Given the description of an element on the screen output the (x, y) to click on. 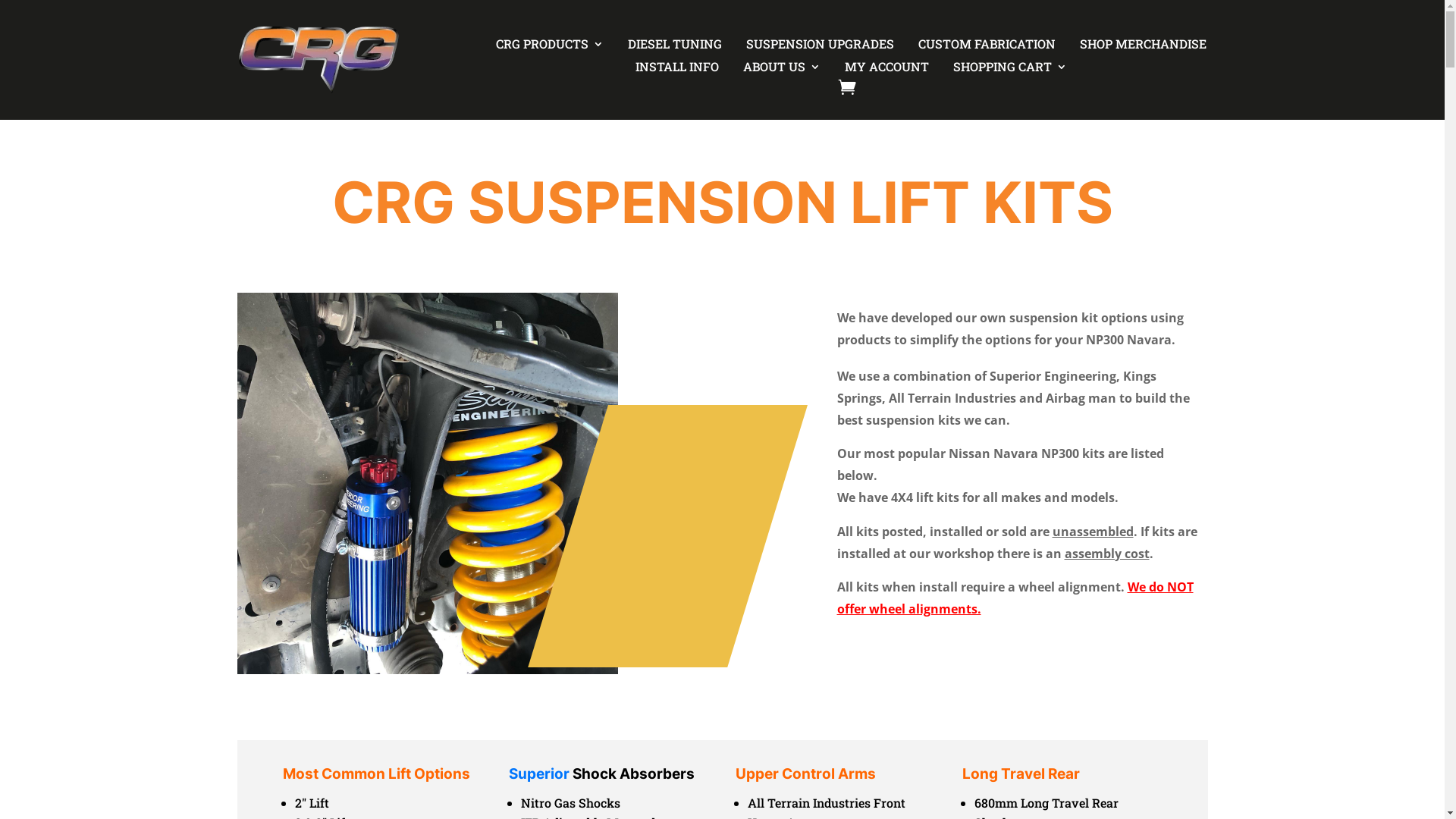
crg-logo Element type: hover (317, 59)
SHOPPING CART Element type: text (1005, 69)
Remote Resevoir Element type: hover (427, 483)
MY ACCOUNT Element type: text (882, 69)
INSTALL INFO Element type: text (672, 69)
CRG PRODUCTS Element type: text (545, 46)
ABOUT US Element type: text (777, 69)
SUSPENSION UPGRADES Element type: text (816, 46)
DIESEL TUNING Element type: text (670, 46)
SHOP MERCHANDISE Element type: text (1139, 46)
CUSTOM FABRICATION Element type: text (982, 46)
